Given the description of an element on the screen output the (x, y) to click on. 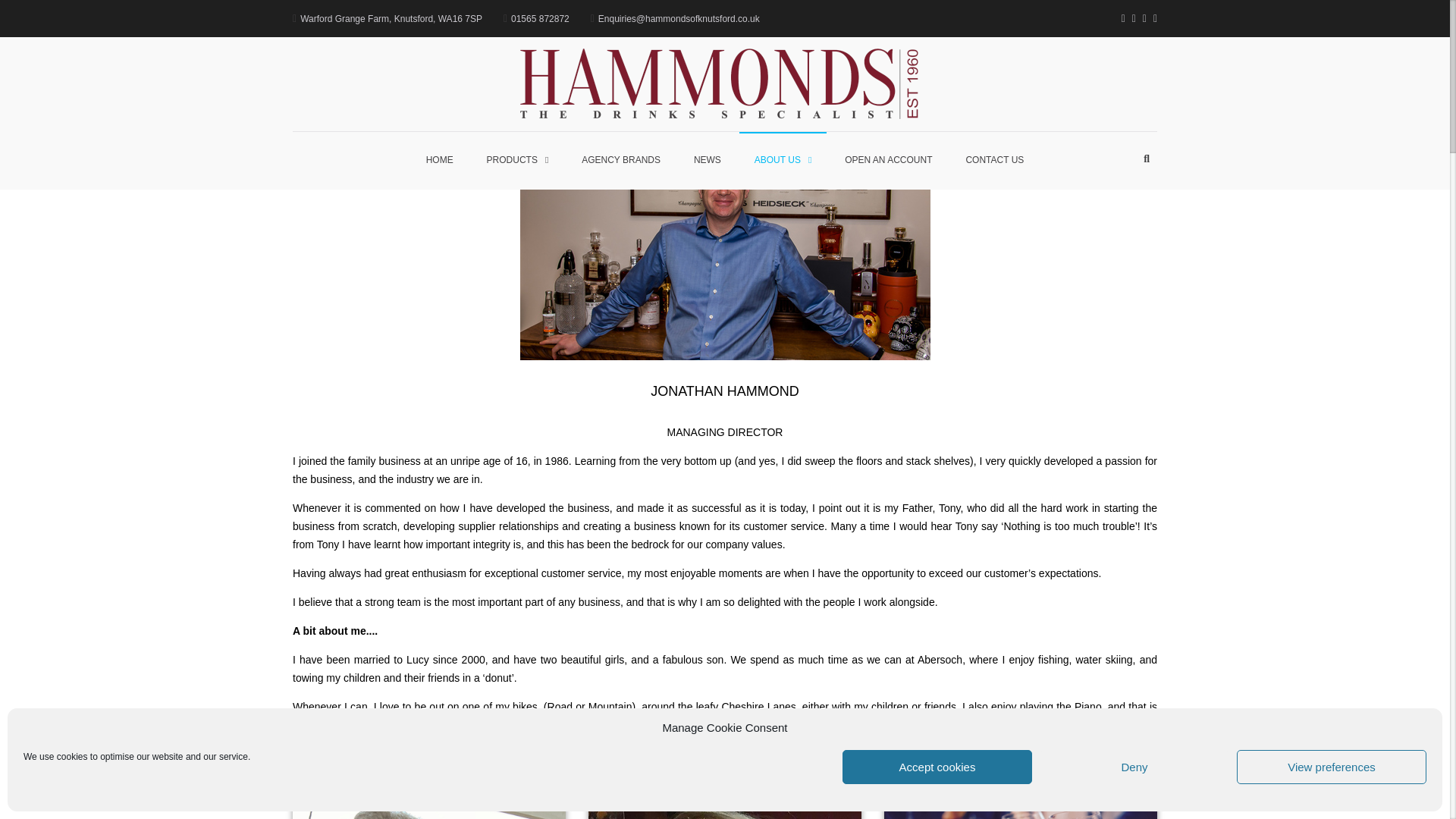
View preferences (1331, 766)
ABOUT US (783, 160)
CONTACT US (994, 160)
NEWS (707, 160)
AGENCY BRANDS (620, 160)
Hammonds The Drinks Specialist (1042, 93)
Search (1107, 240)
PRODUCTS (517, 160)
OPEN AN ACCOUNT (888, 160)
Accept cookies (937, 766)
